Given the description of an element on the screen output the (x, y) to click on. 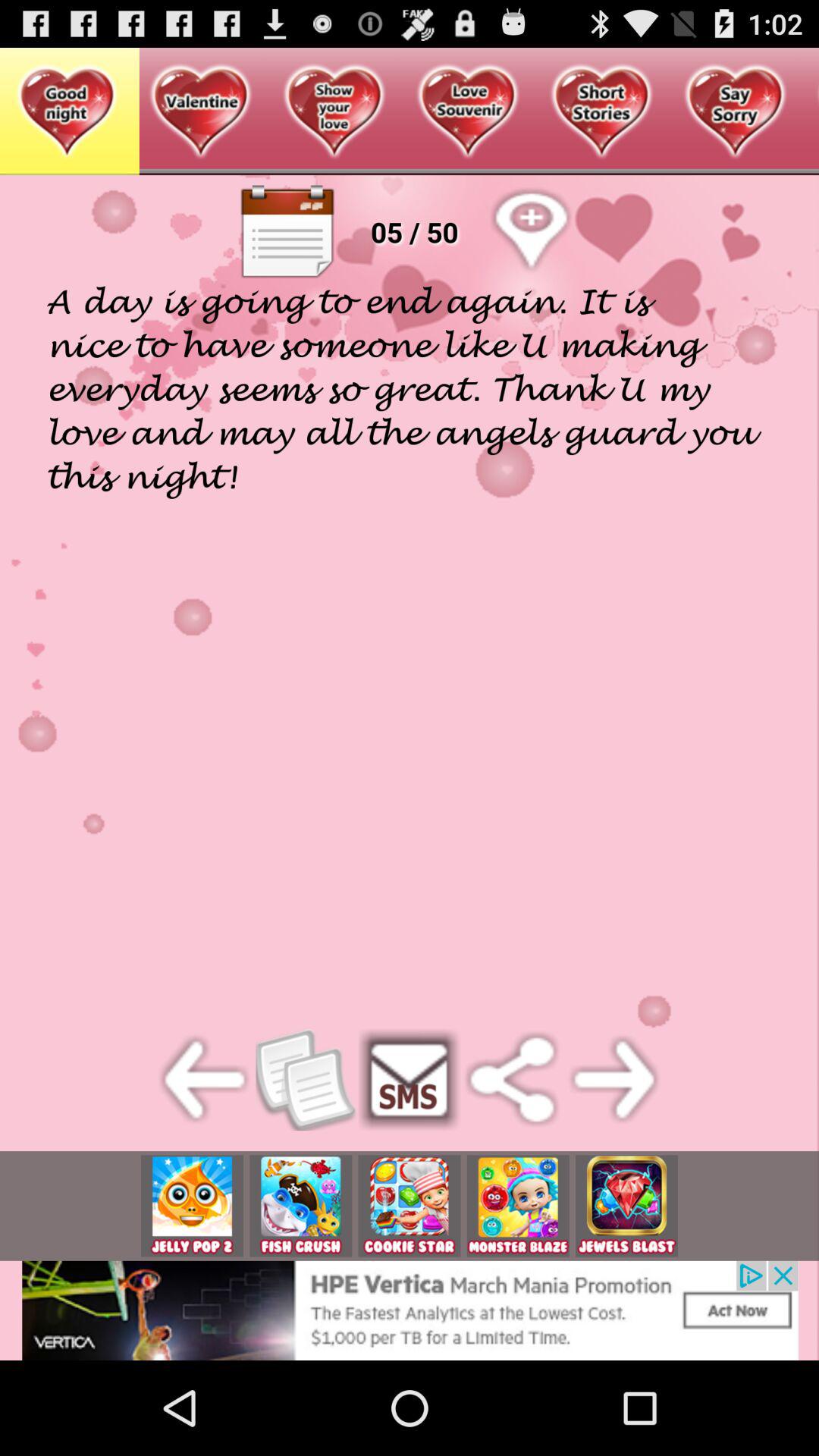
emoji (300, 1205)
